Given the description of an element on the screen output the (x, y) to click on. 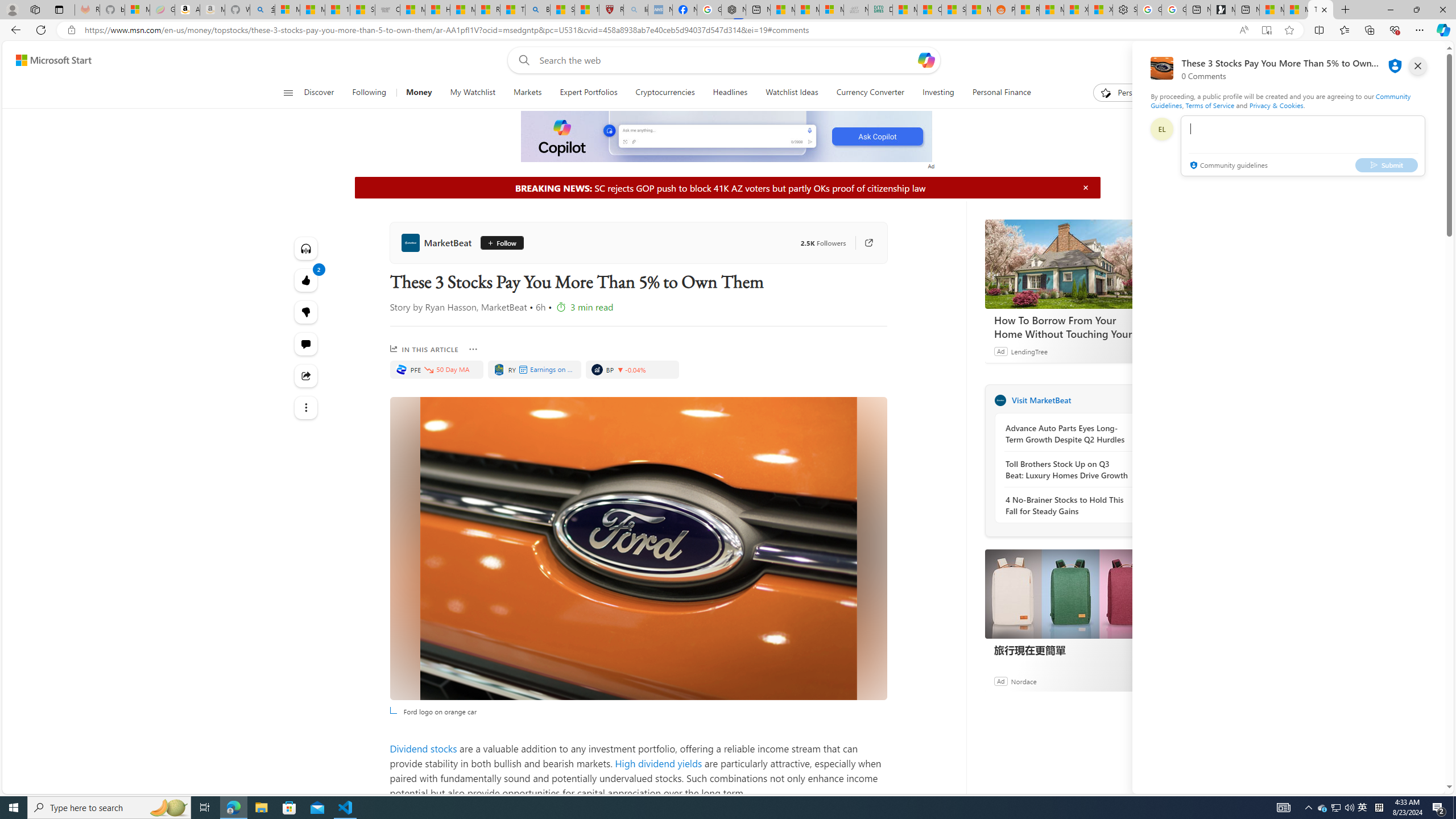
My Watchlist (472, 92)
Cryptocurrencies (665, 92)
Markets (526, 92)
Hide (1084, 187)
Bing (536, 9)
Investing (937, 92)
Ford logo on orange car (638, 548)
How I Got Rid of Microsoft Edge's Unnecessary Features (437, 9)
